Given the description of an element on the screen output the (x, y) to click on. 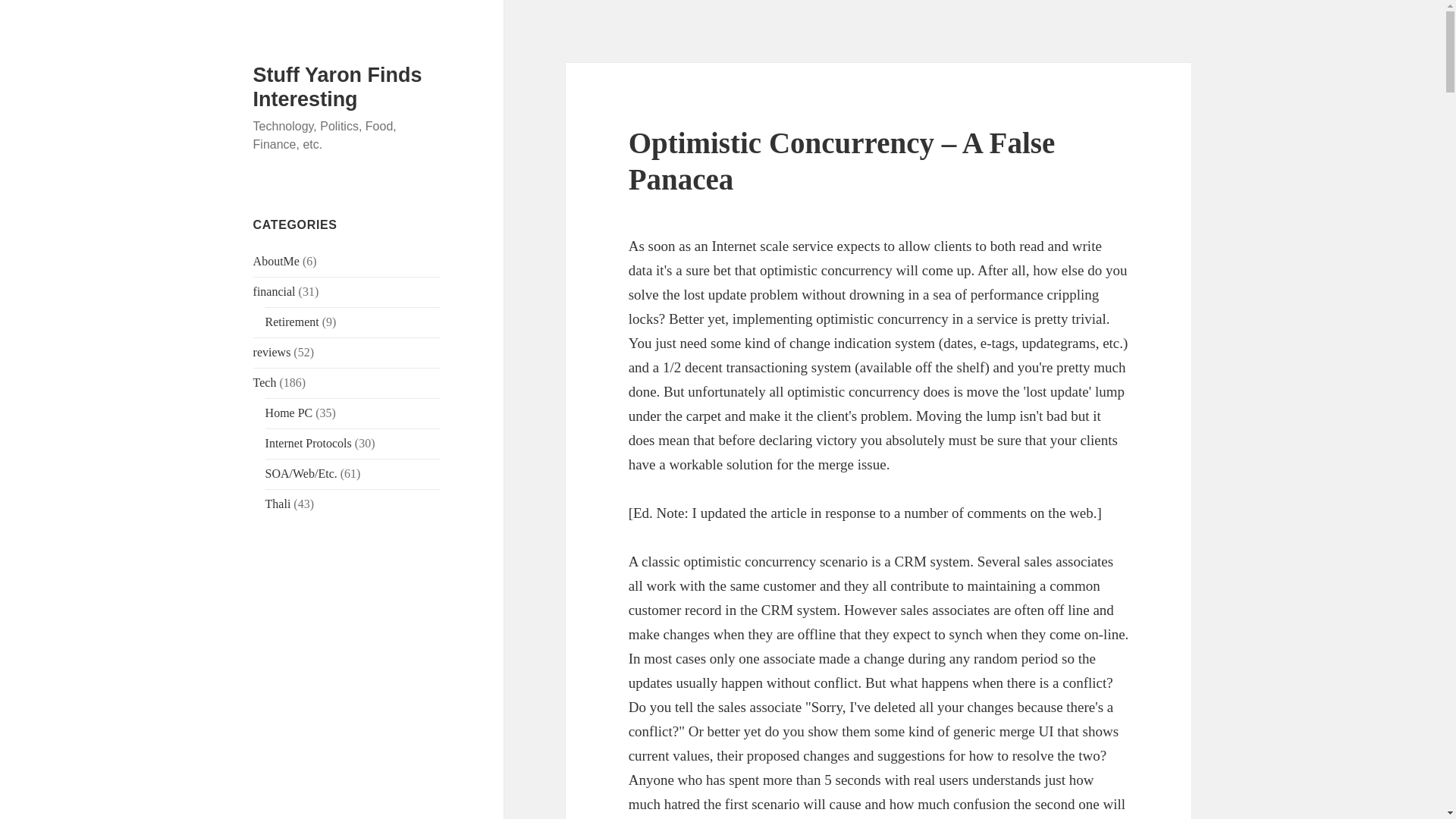
Tech (264, 382)
Retirement (291, 321)
Thali (277, 503)
Stuff Yaron Finds Interesting (337, 86)
reviews (272, 351)
AboutMe (276, 260)
Internet Protocols (308, 442)
Home PC (288, 412)
financial (274, 291)
